Given the description of an element on the screen output the (x, y) to click on. 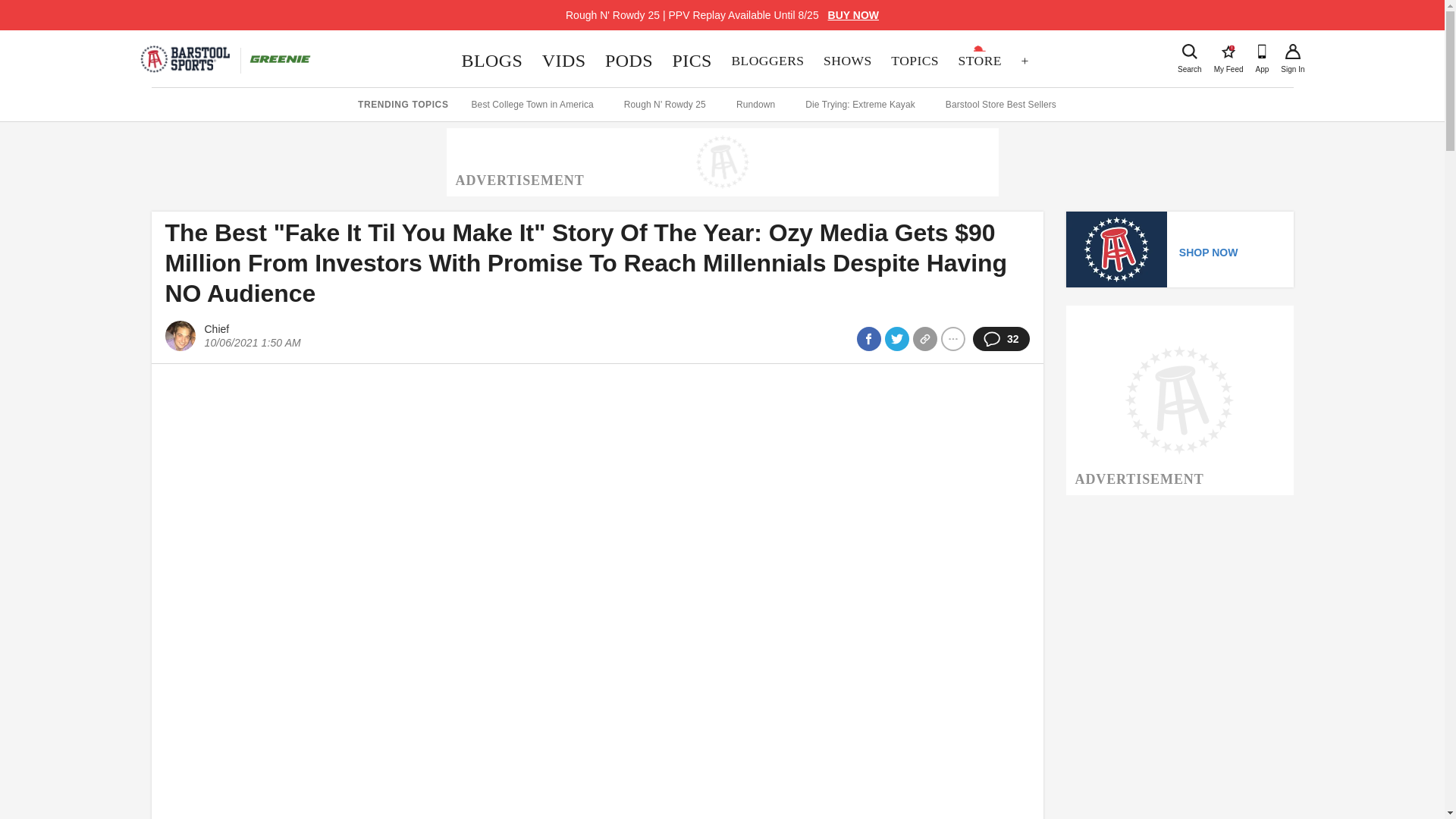
PODS (628, 60)
Sign Up (1292, 51)
BLOGGERS (1228, 51)
PICS (767, 60)
Search (692, 60)
TOPICS (1189, 51)
BUY NOW (913, 60)
VIDS (853, 15)
BLOGS (563, 60)
